Given the description of an element on the screen output the (x, y) to click on. 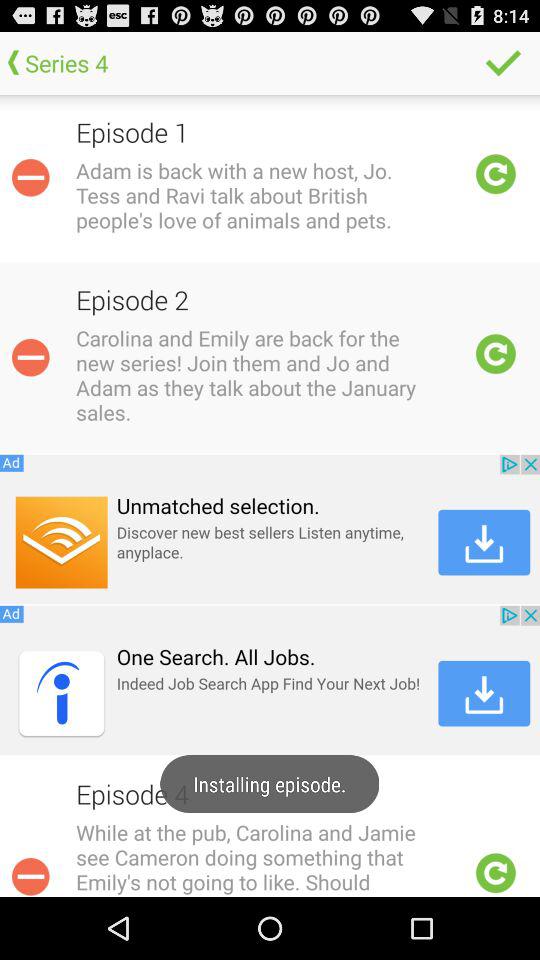
replay episode two (496, 354)
